Given the description of an element on the screen output the (x, y) to click on. 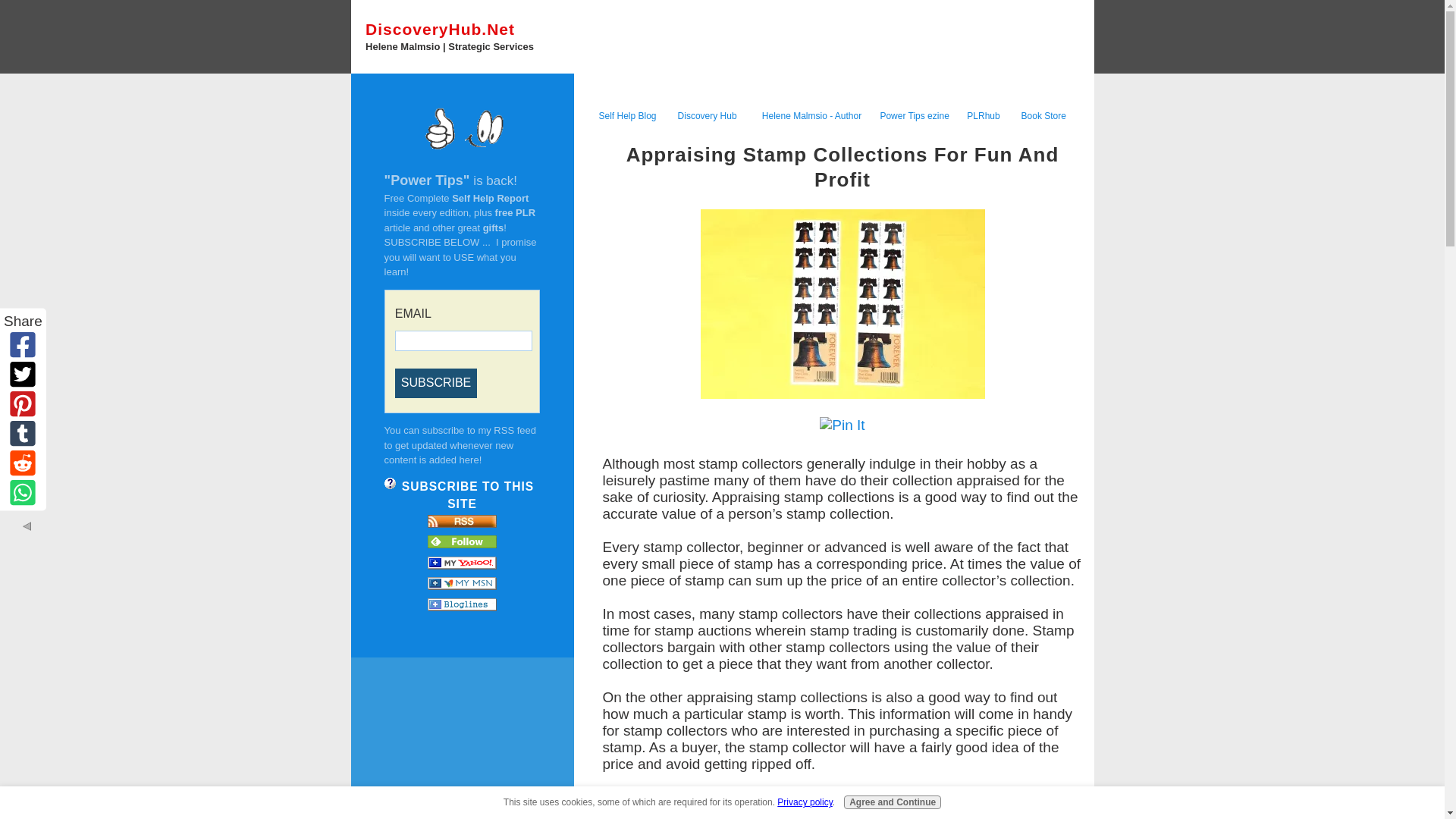
PLRhub (982, 115)
Power Tips ezine (914, 115)
Discovery Hub (707, 115)
Agree and Continue (892, 802)
Helene Malmsio - Author (811, 115)
DiscoveryHub.Net (440, 28)
SUBSCRIBE (435, 382)
Self Help Blog (627, 114)
Privacy policy (804, 801)
Pin It (841, 425)
Book Store (1043, 115)
